Given the description of an element on the screen output the (x, y) to click on. 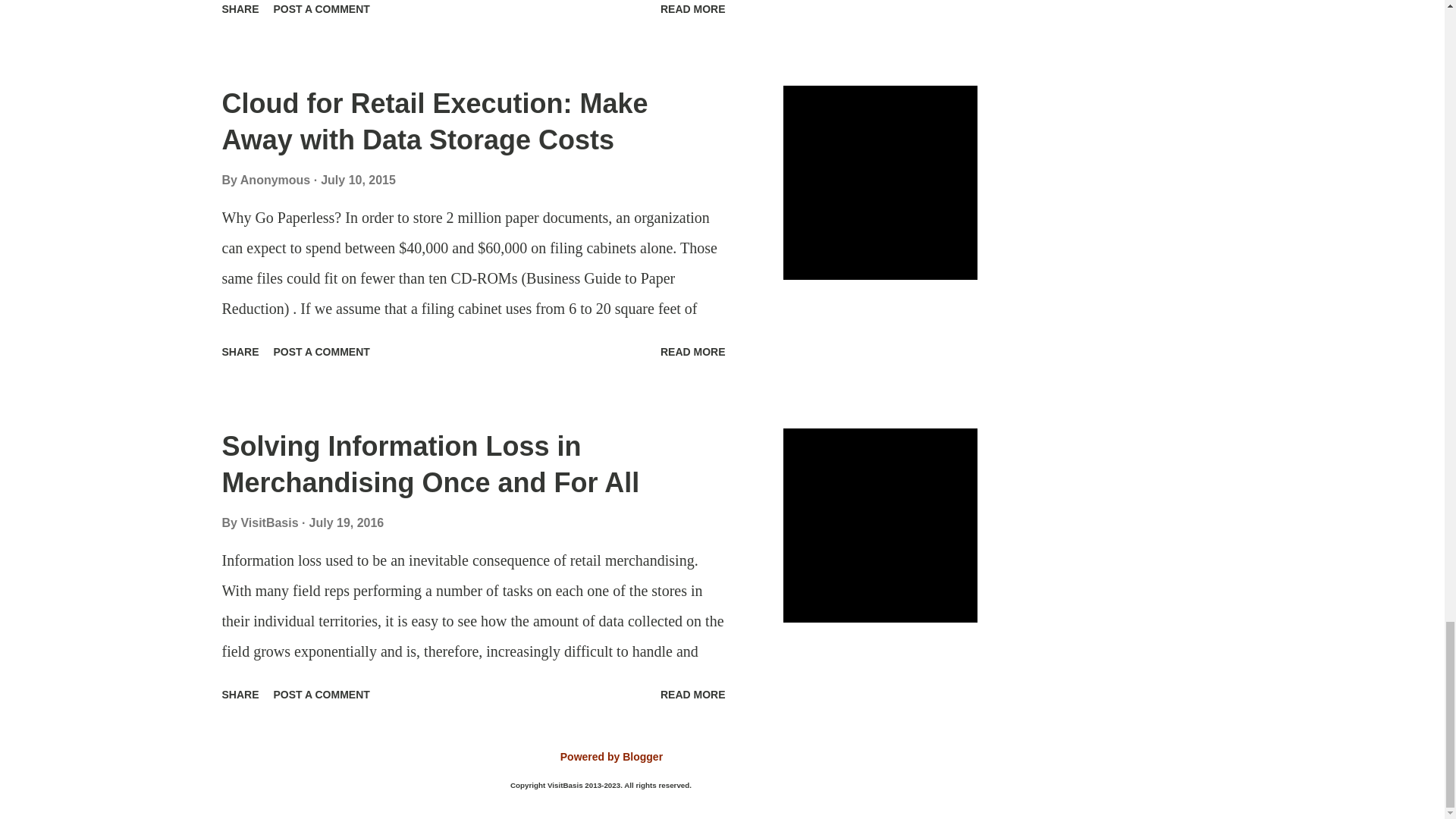
SHARE (239, 10)
READ MORE (692, 10)
POST A COMMENT (321, 10)
